Given the description of an element on the screen output the (x, y) to click on. 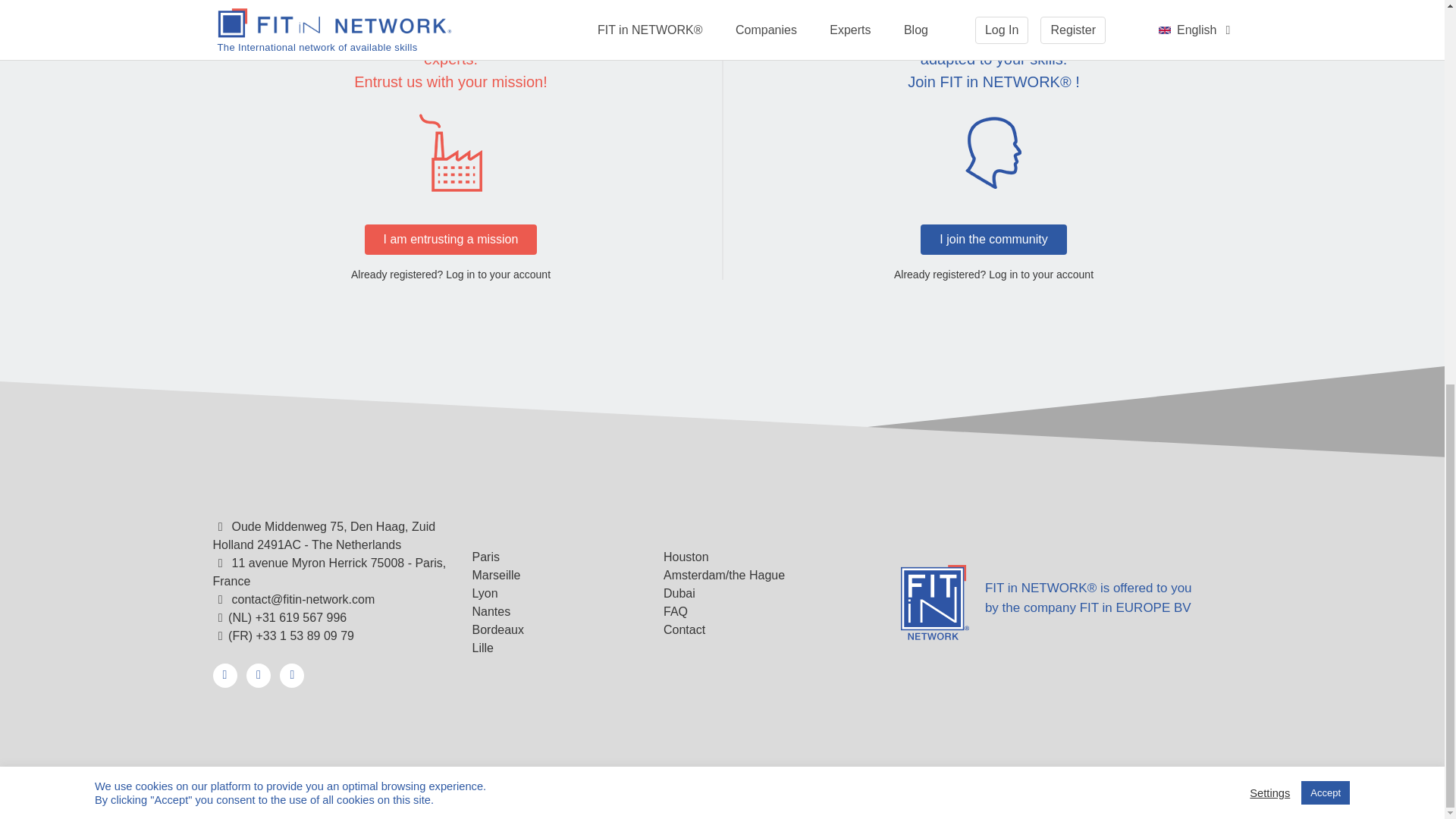
I am entrusting a mission (451, 239)
Log in to your account (1040, 274)
Paris (485, 556)
Log in to your account (497, 274)
I join the community (992, 239)
